Given the description of an element on the screen output the (x, y) to click on. 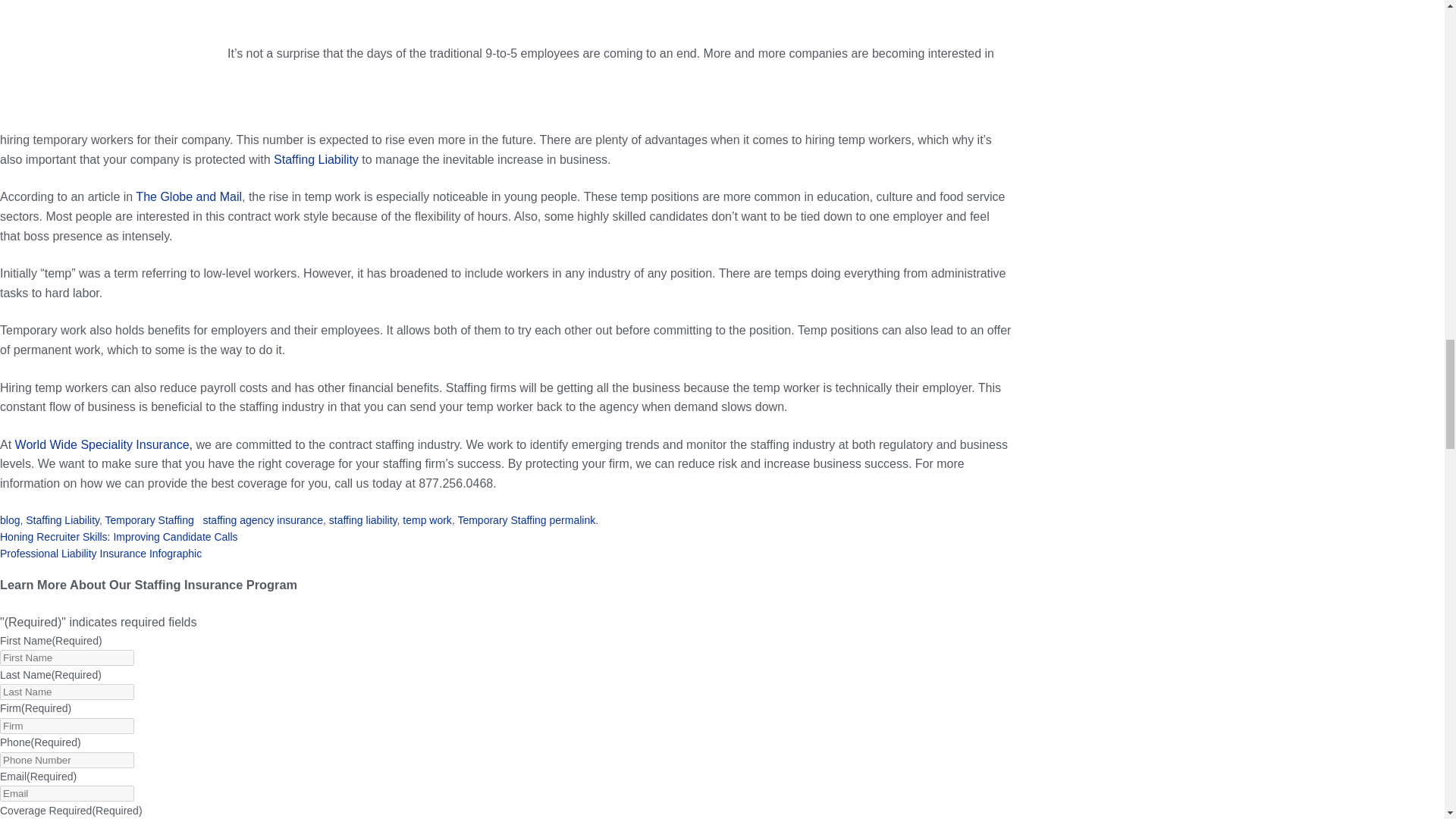
staffing liability (363, 520)
staffing agency insurance (262, 520)
The Globe and Mail (188, 196)
permalink (572, 520)
temp work (427, 520)
Temporary Staffing (501, 520)
Temporary Staffing (148, 520)
Staffing Liability (315, 159)
Staffing Liability (62, 520)
